Given the description of an element on the screen output the (x, y) to click on. 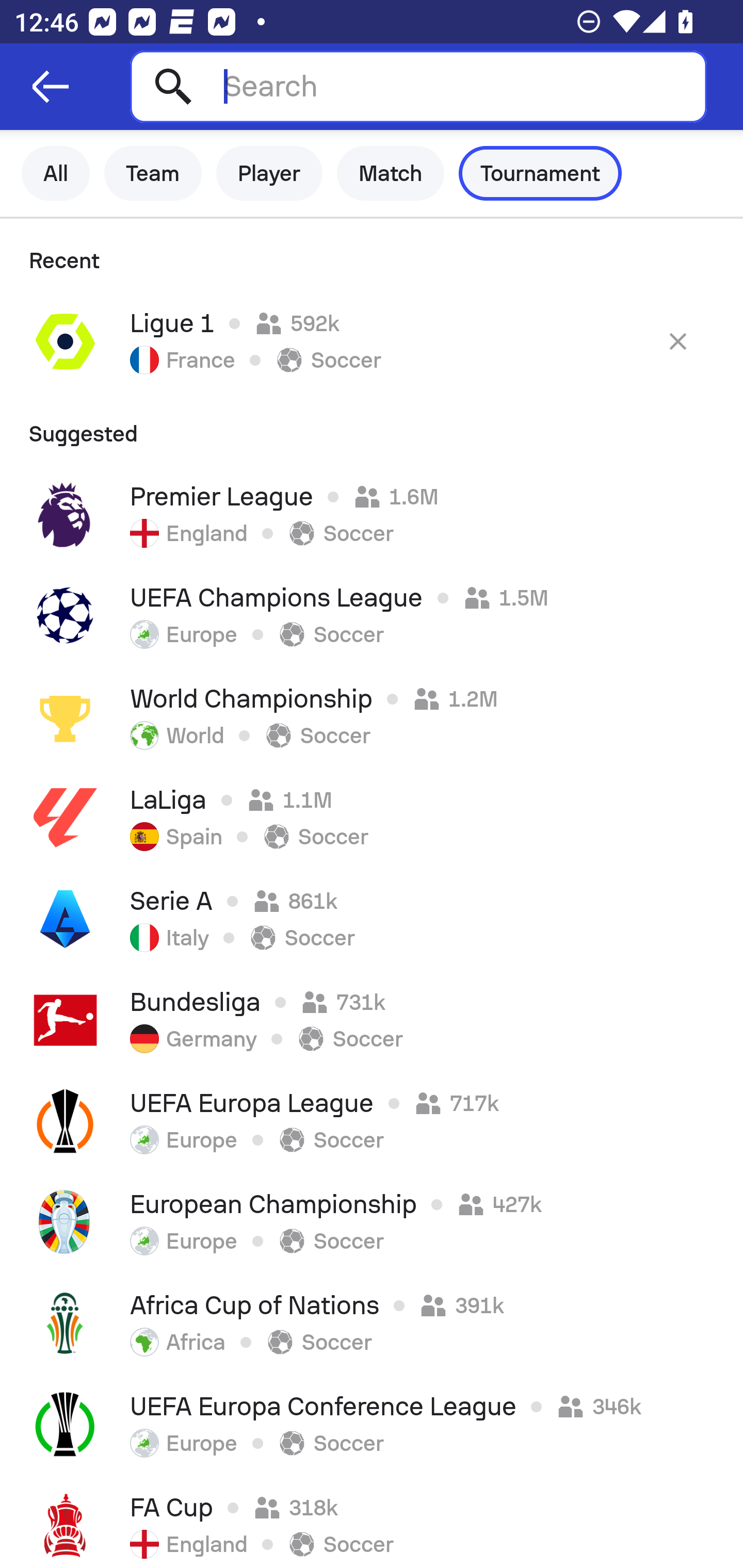
Navigate up (50, 86)
Search (418, 86)
All (55, 172)
Team (152, 172)
Player (268, 172)
Match (390, 172)
Tournament (540, 172)
Recent (371, 254)
Ligue 1 592k France Soccer (371, 341)
Suggested (371, 428)
Premier League 1.6M England Soccer (371, 515)
UEFA Champions League 1.5M Europe Soccer (371, 616)
World Championship 1.2M World Soccer (371, 716)
LaLiga 1.1M Spain Soccer (371, 817)
Serie A 861k Italy Soccer (371, 918)
Bundesliga 731k Germany Soccer (371, 1019)
UEFA Europa League 717k Europe Soccer (371, 1120)
European Championship 427k Europe Soccer (371, 1222)
Africa Cup of Nations 391k Africa Soccer (371, 1323)
UEFA Europa Conference League 346k Europe Soccer (371, 1424)
FA Cup 318k England Soccer (371, 1521)
